Given the description of an element on the screen output the (x, y) to click on. 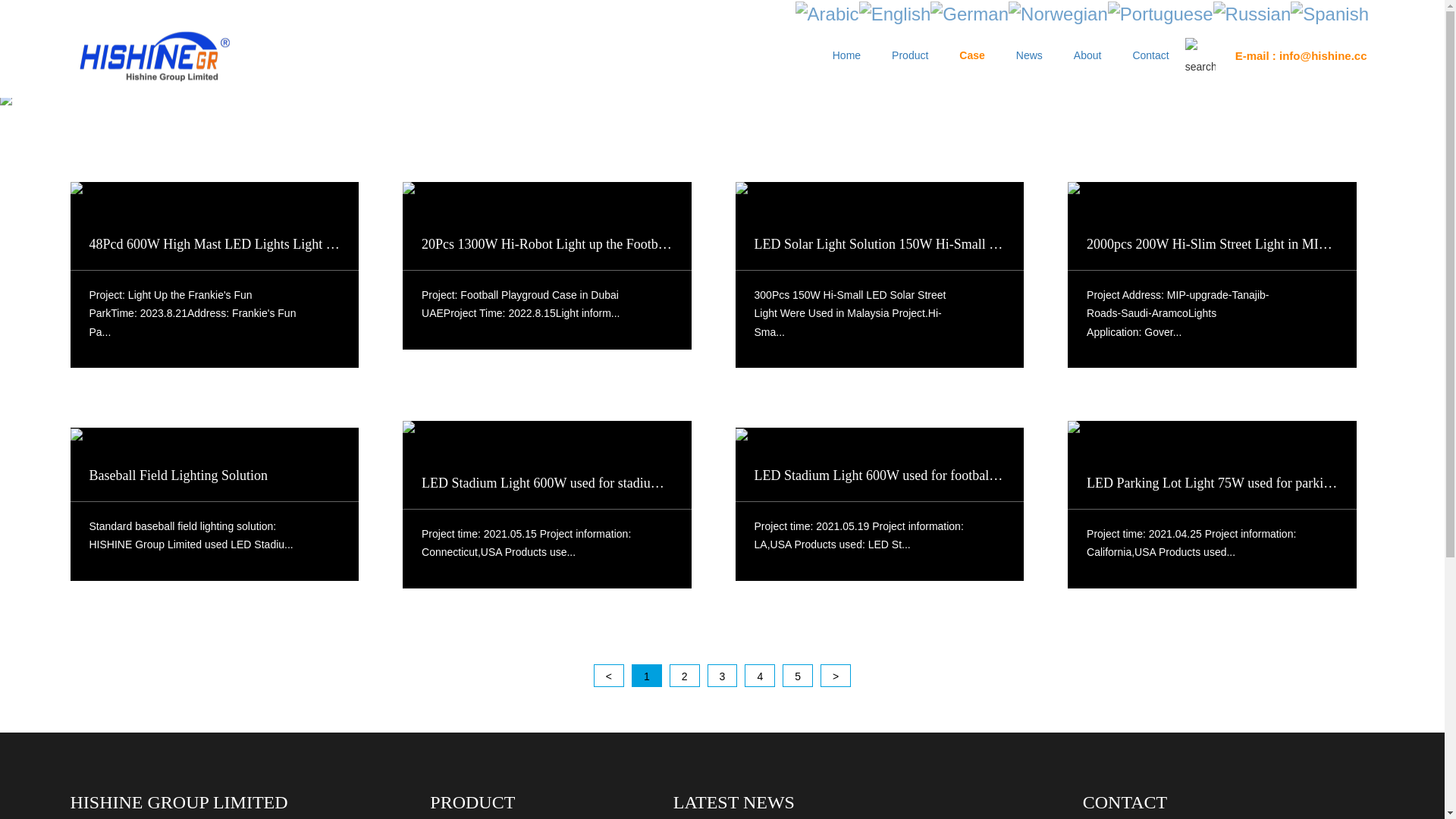
About Element type: text (1087, 52)
Product Element type: text (909, 52)
Norwegian Element type: hover (1057, 12)
2 Element type: text (684, 675)
5 Element type: text (797, 675)
German Element type: hover (969, 12)
Portuguese Element type: hover (1160, 12)
> Element type: text (835, 675)
Russian Element type: hover (1252, 12)
News Element type: text (1029, 52)
logo Element type: hover (153, 56)
Spanish Element type: hover (1329, 12)
Contact Element type: text (1150, 52)
Case Element type: text (971, 52)
Arabic Element type: hover (827, 12)
1 Element type: text (646, 675)
Home Element type: text (846, 52)
3 Element type: text (722, 675)
English Element type: hover (895, 12)
< Element type: text (608, 675)
E-mail : info@hishine.cc Element type: text (1296, 52)
4 Element type: text (759, 675)
